Given the description of an element on the screen output the (x, y) to click on. 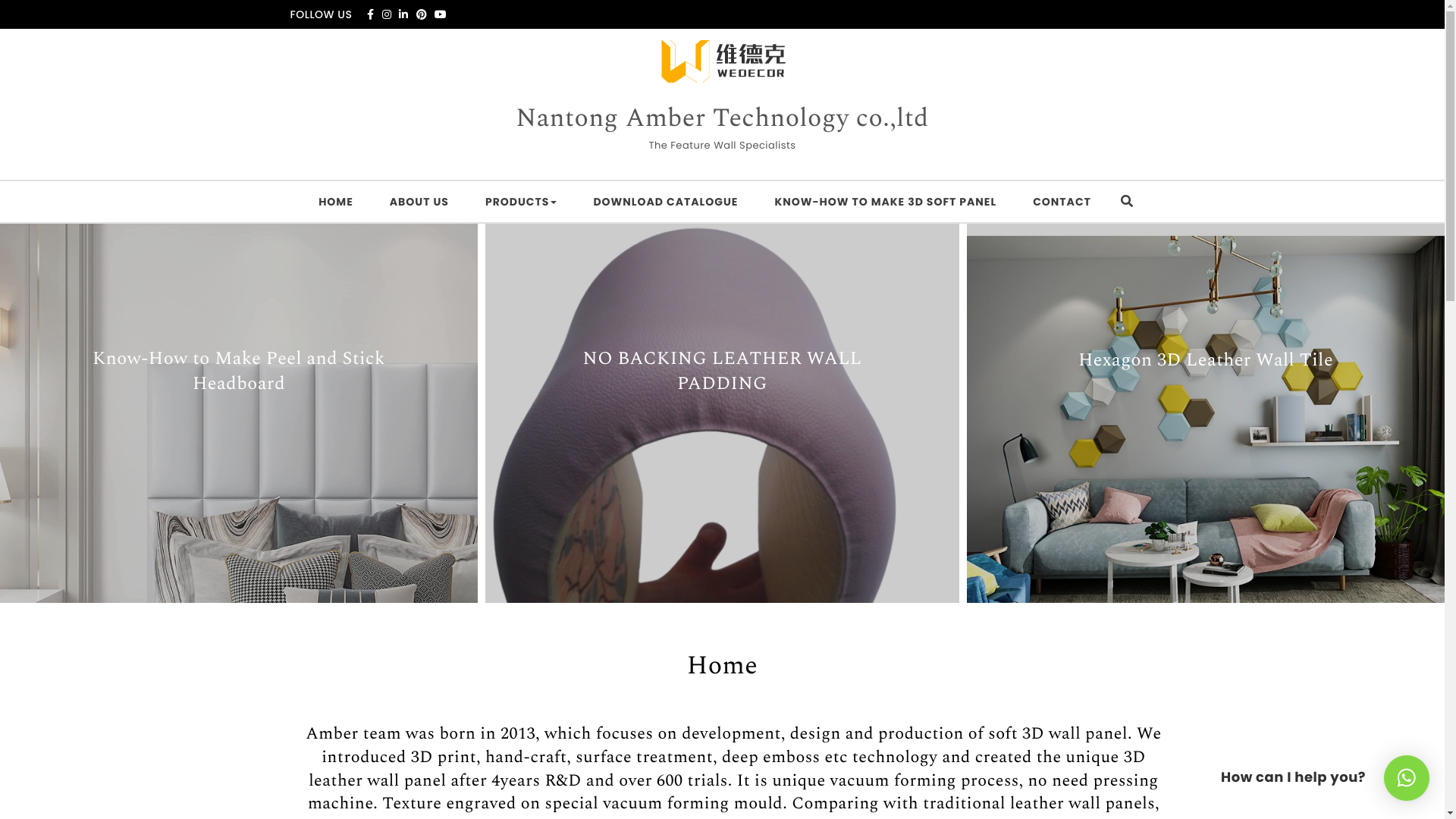
ABOUT US Element type: text (419, 201)
HOME Element type: text (335, 201)
Know-How to Make Peel and Stick Headboard Element type: text (238, 372)
PRODUCTS Element type: text (520, 201)
Nantong Amber Technology co.,ltd Element type: text (721, 118)
Hexagon 3D Leather Wall Tile Element type: text (1205, 361)
KNOW-HOW TO MAKE 3D SOFT PANEL Element type: text (885, 201)
NO BACKING LEATHER WALL PADDING Element type: text (722, 372)
CONTACT Element type: text (1061, 201)
DOWNLOAD CATALOGUE Element type: text (665, 201)
How can I help you? Element type: text (1406, 777)
